Given the description of an element on the screen output the (x, y) to click on. 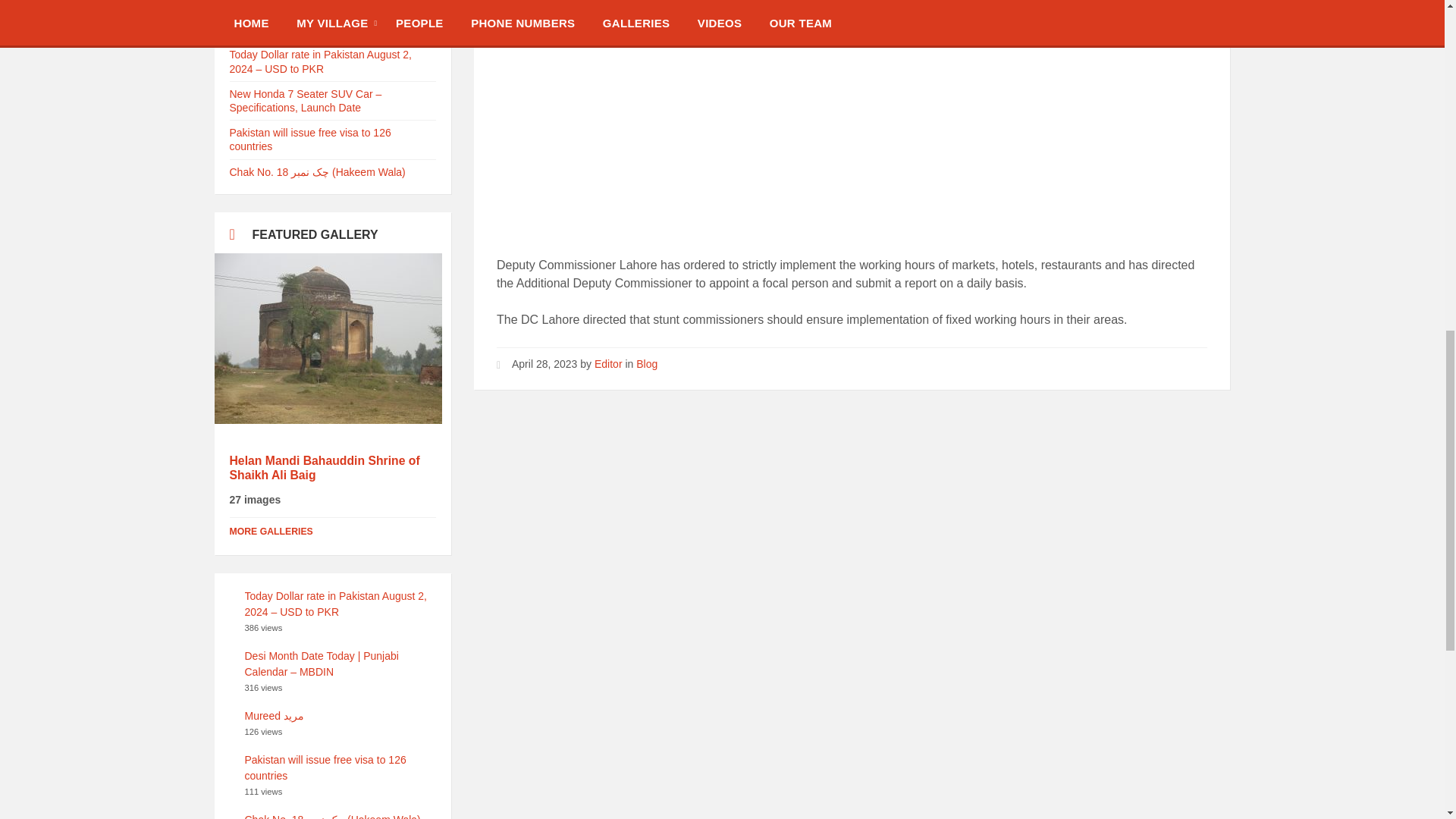
helan maqbra picture (327, 338)
